Given the description of an element on the screen output the (x, y) to click on. 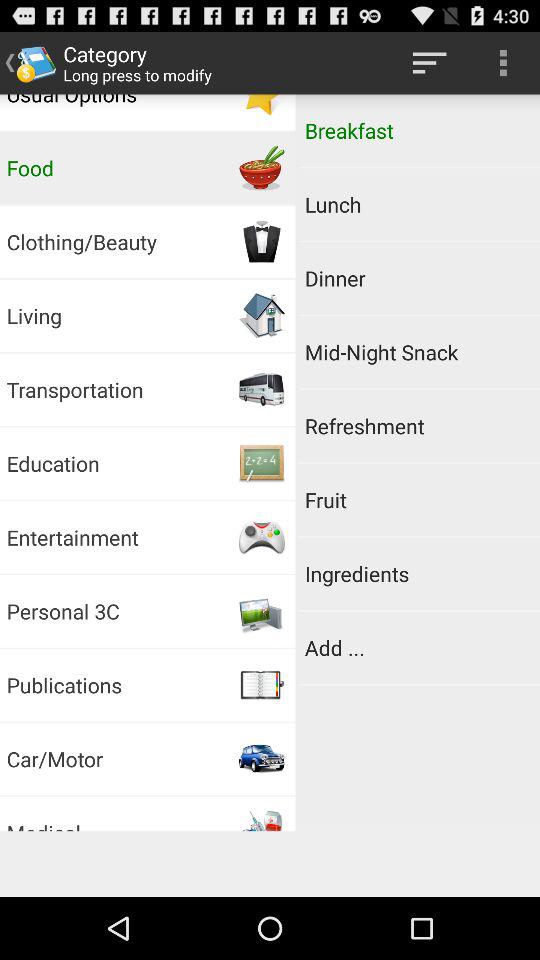
click on the clothingbeauty  icon (262, 241)
click on icon right to publications (262, 685)
click on the image beside the text clothingbeauty (262, 241)
click on the icon right to the text category (430, 63)
select the image on the right next to the living button on the web page (262, 315)
